Given the description of an element on the screen output the (x, y) to click on. 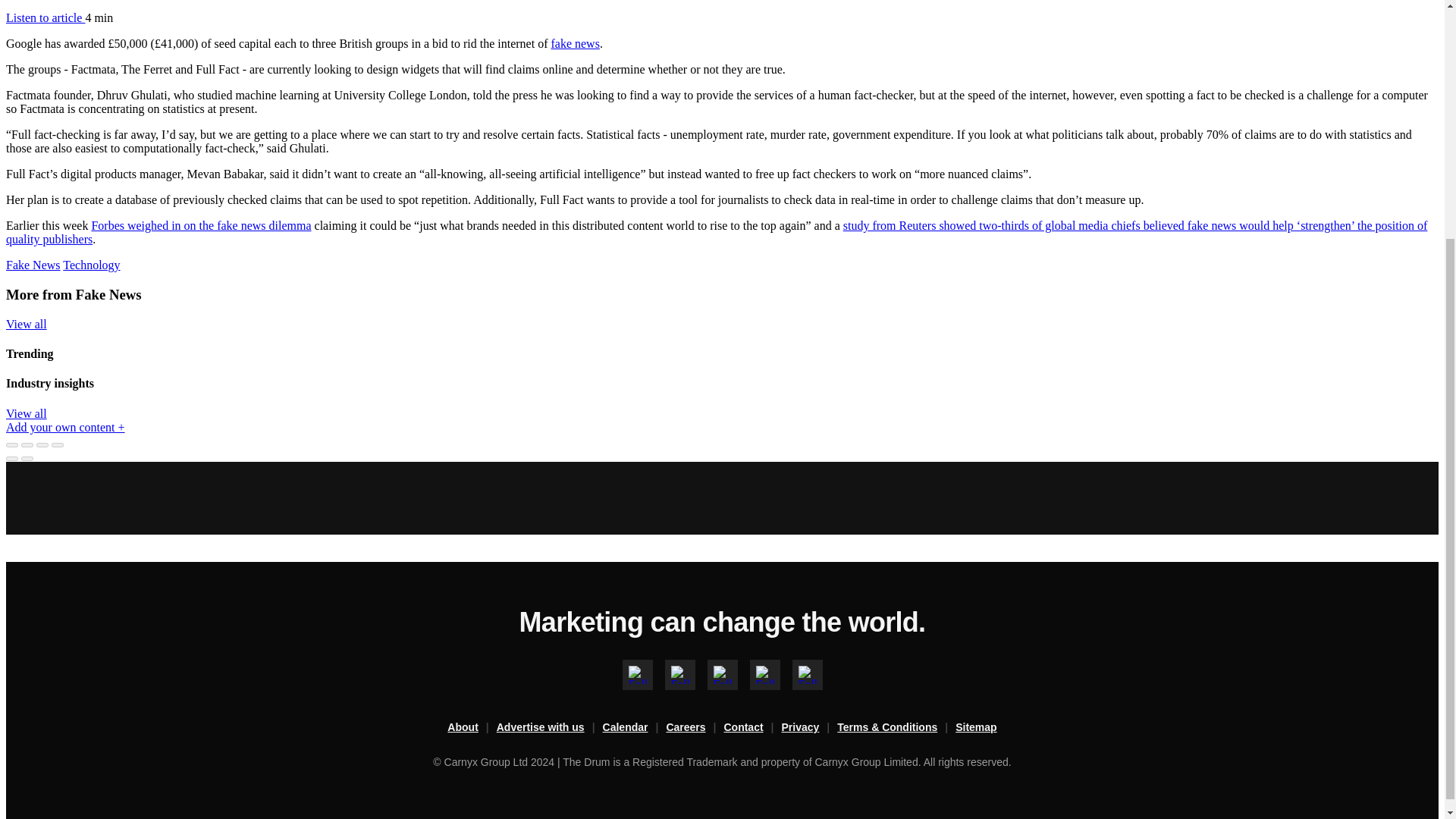
Forbes weighed in on the fake news dilemma (200, 225)
About (471, 728)
View all (25, 413)
fake news (574, 42)
Fake News (33, 264)
Toggle fullscreen (42, 445)
Contact (751, 728)
Listen to article (44, 17)
View all (25, 323)
Advertise with us (549, 728)
